Given the description of an element on the screen output the (x, y) to click on. 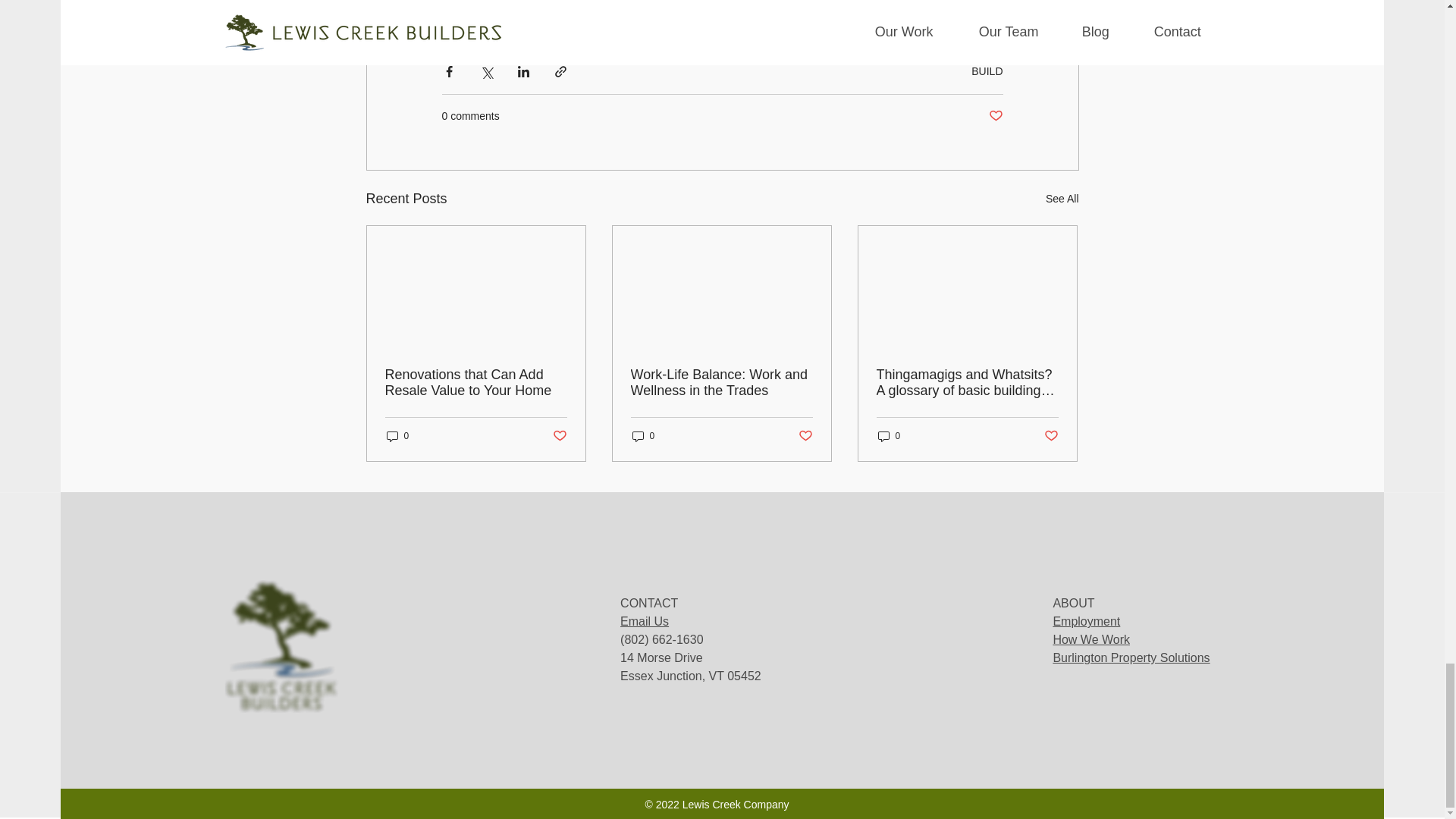
Post not marked as liked (1050, 436)
0 (889, 436)
Post not marked as liked (558, 436)
Instagram (584, 3)
Facebook  (478, 3)
0 (643, 436)
Work-Life Balance: Work and Wellness in the Trades (721, 382)
Email Us (644, 621)
Post not marked as liked (804, 436)
